Given the description of an element on the screen output the (x, y) to click on. 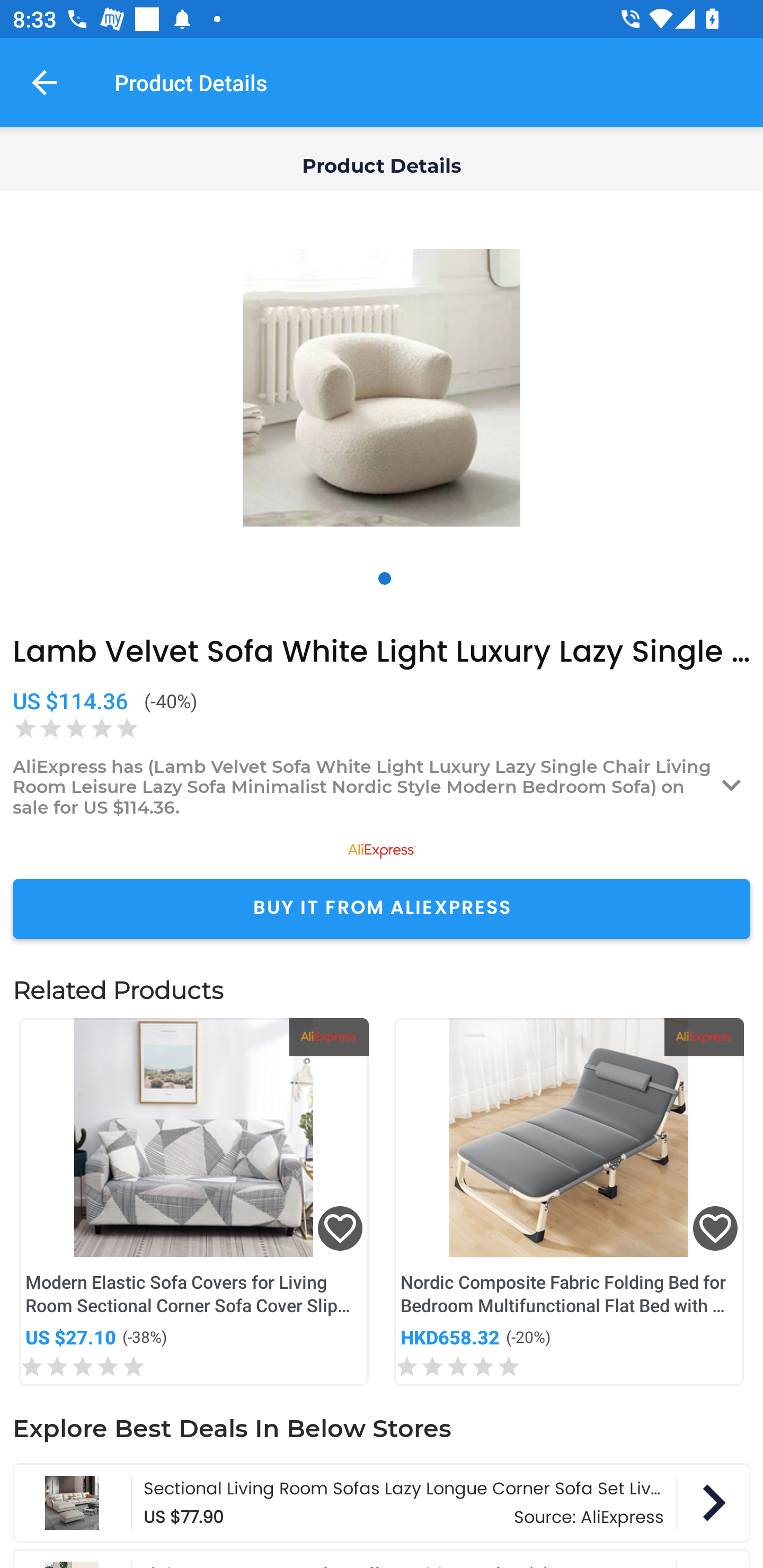
Navigate up (44, 82)
BUY IT FROM ALIEXPRESS (381, 908)
